Given the description of an element on the screen output the (x, y) to click on. 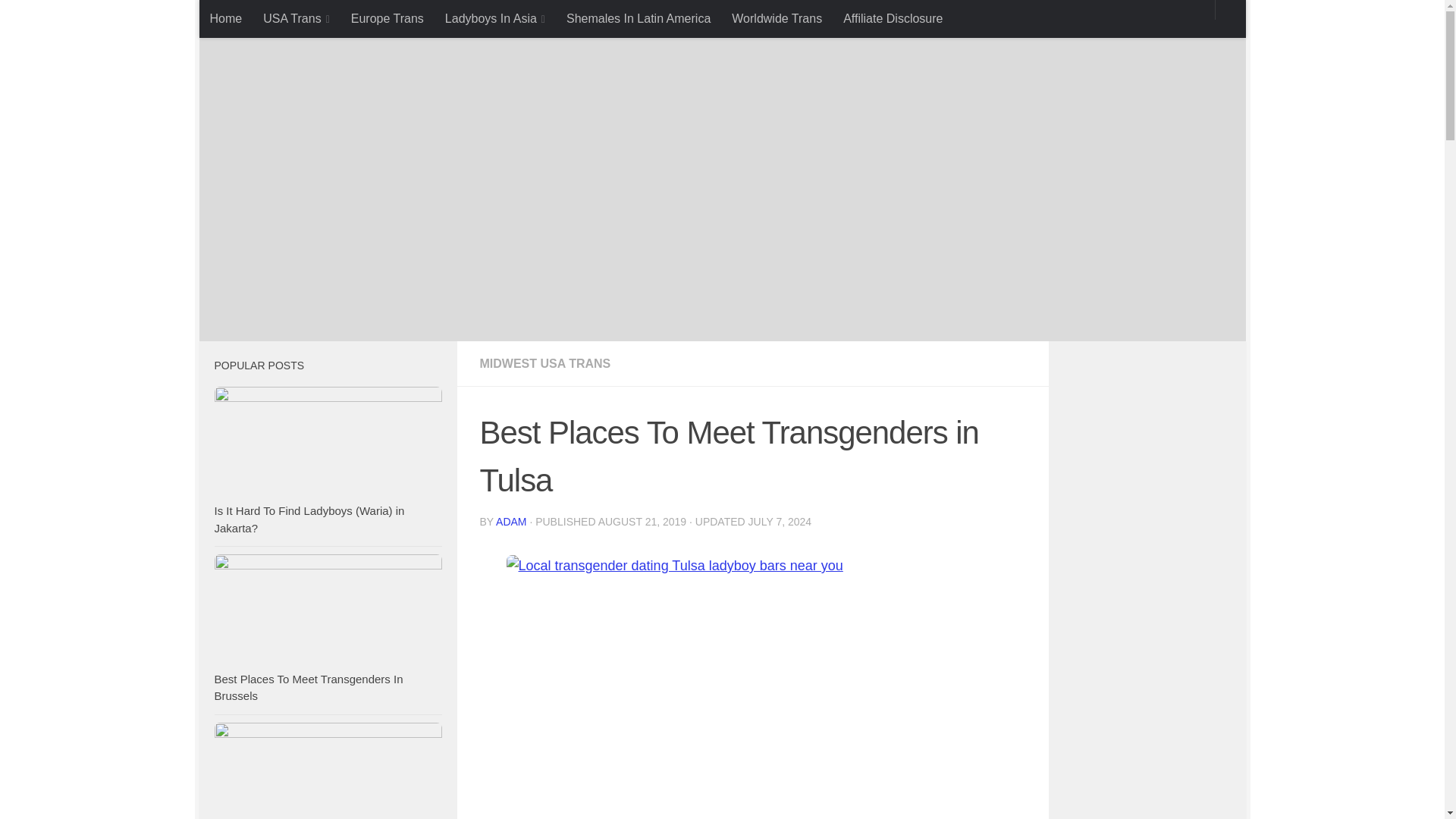
Skip to content (263, 20)
MIDWEST USA TRANS (544, 363)
Europe Trans (386, 18)
ADAM (510, 521)
Ladyboys In Asia (494, 18)
Affiliate Disclosure (892, 18)
Worldwide Trans (776, 18)
Posts by adam (510, 521)
USA Trans (295, 18)
Home (224, 18)
Shemales In Latin America (638, 18)
